Given the description of an element on the screen output the (x, y) to click on. 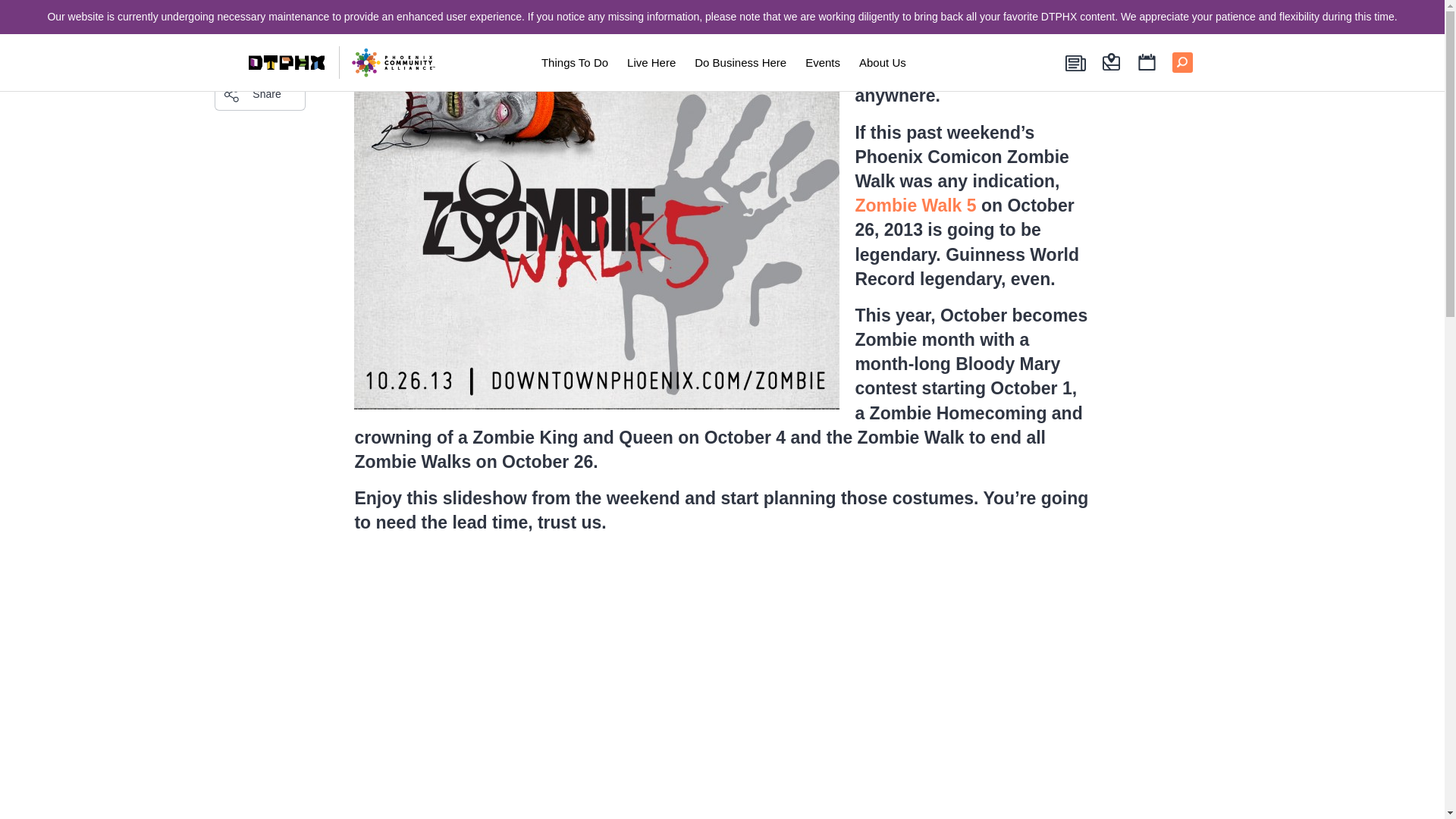
About Us (883, 62)
Do Business Here (740, 62)
Events (823, 62)
Live Here (651, 62)
Search (259, 50)
Things To Do (574, 62)
